Given the description of an element on the screen output the (x, y) to click on. 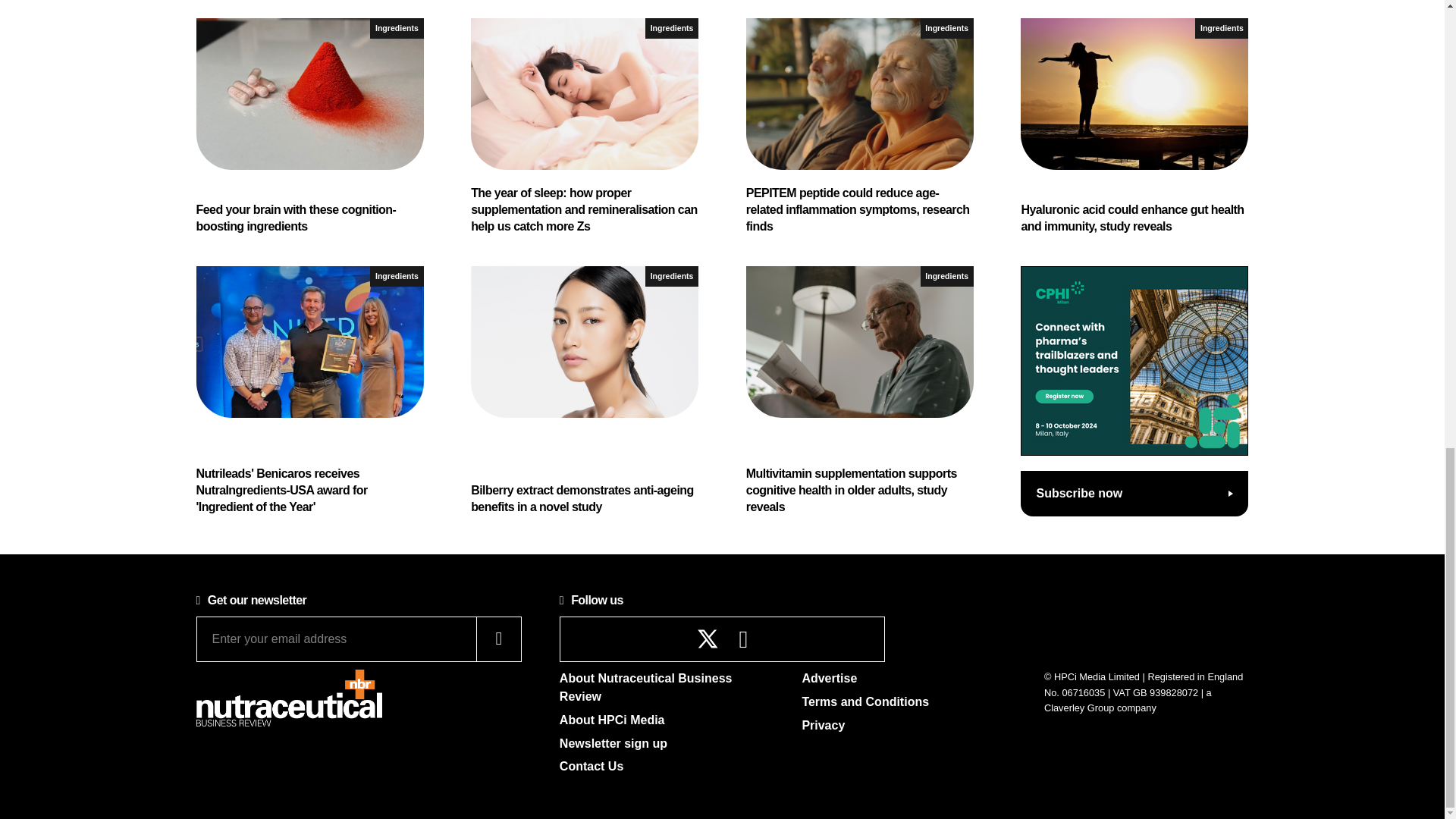
Ingredients (1221, 28)
Ingredients (671, 276)
Ingredients (947, 28)
Ingredients (396, 28)
Ingredients (396, 276)
Ingredients (671, 28)
Follow Nutraceutical Business Review on X (708, 639)
Ingredients (947, 276)
Feed your brain with these cognition-boosting ingredients (309, 126)
